Given the description of an element on the screen output the (x, y) to click on. 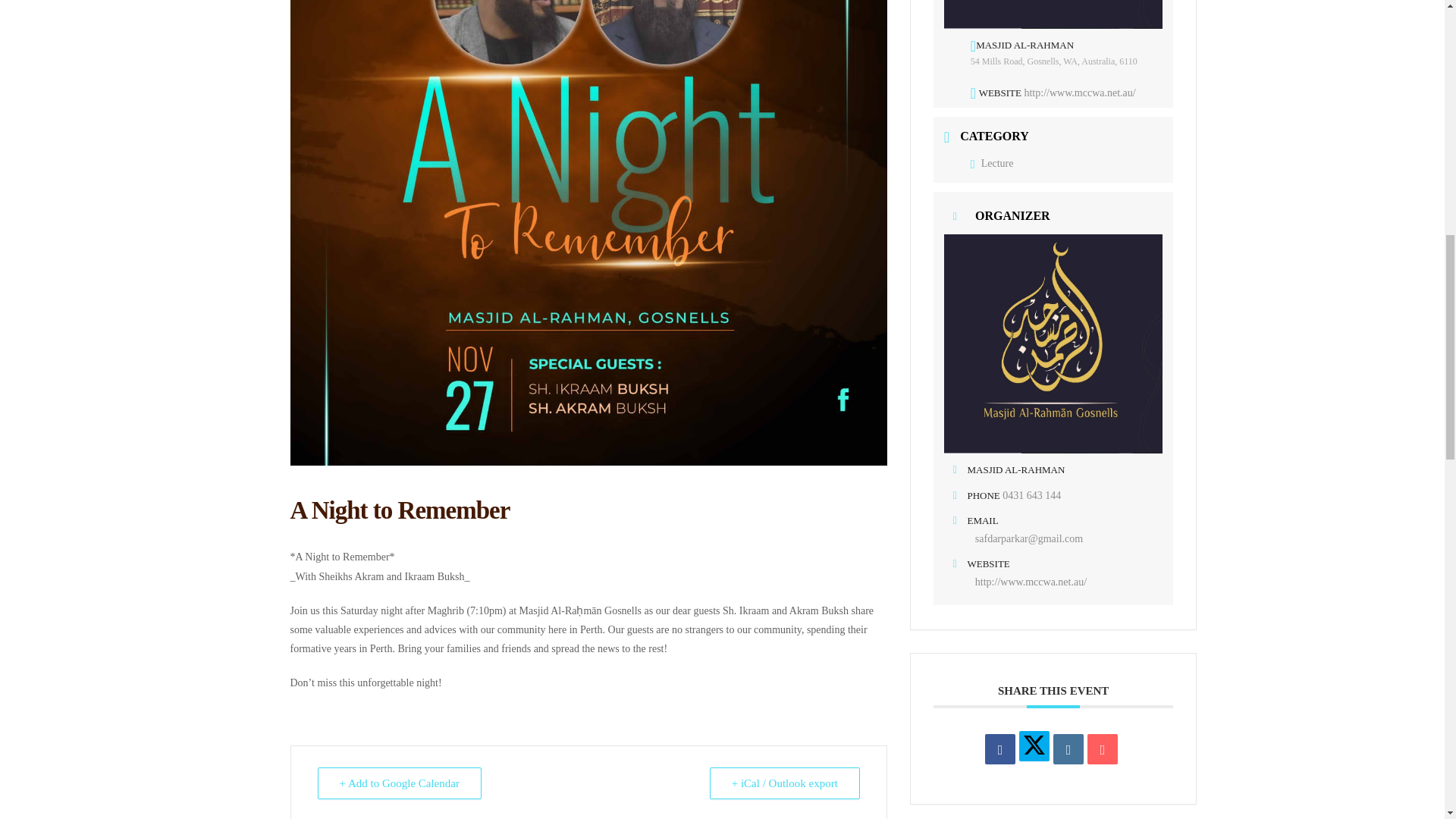
Linkedin (1067, 748)
X Social Network (1034, 746)
Share on Facebook (999, 748)
Email (1102, 748)
